Given the description of an element on the screen output the (x, y) to click on. 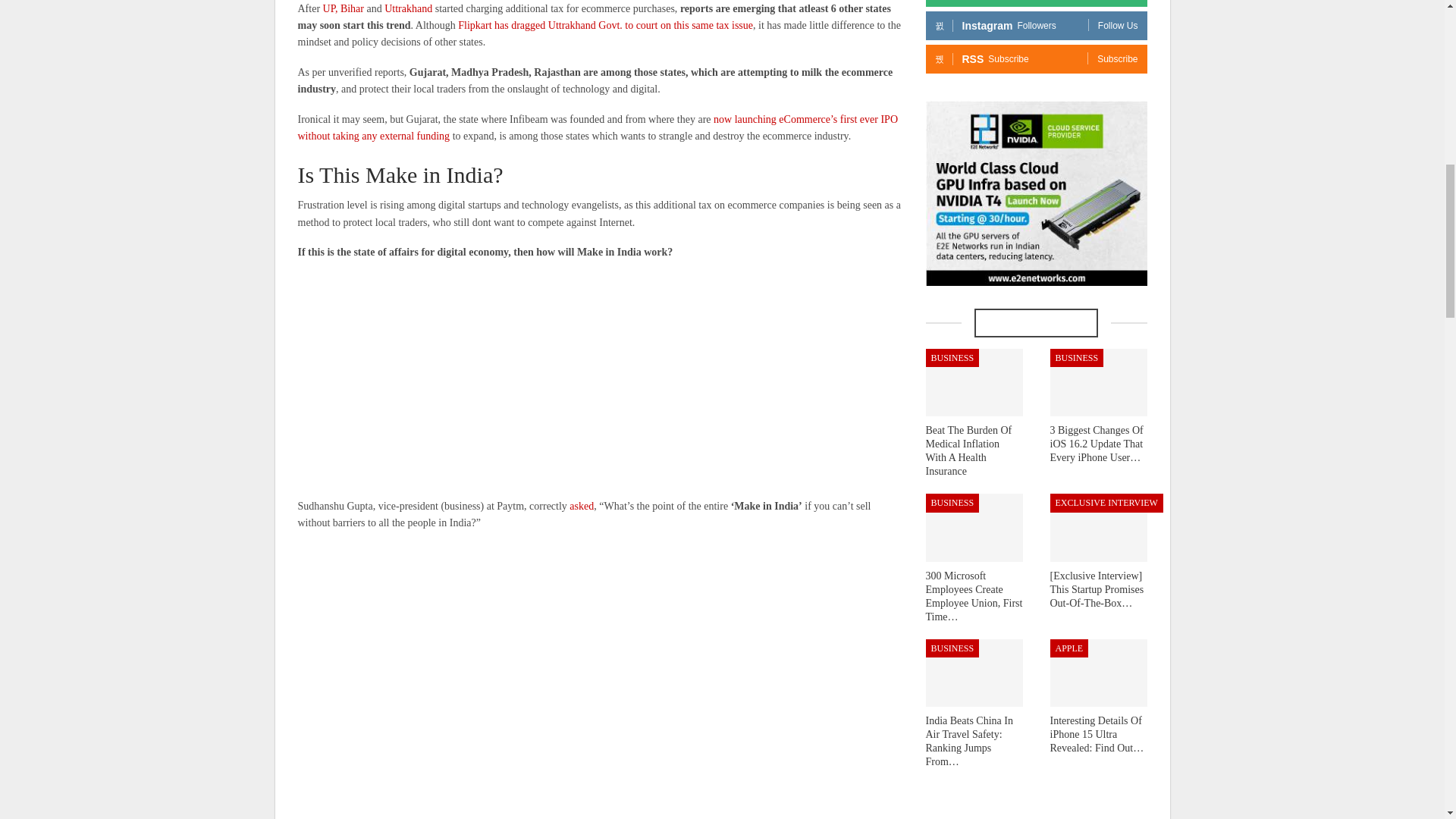
Advertisement (600, 380)
UP, Bihar (343, 8)
Uttrakhand (408, 8)
UP, Bihar (343, 8)
asked (581, 505)
